Given the description of an element on the screen output the (x, y) to click on. 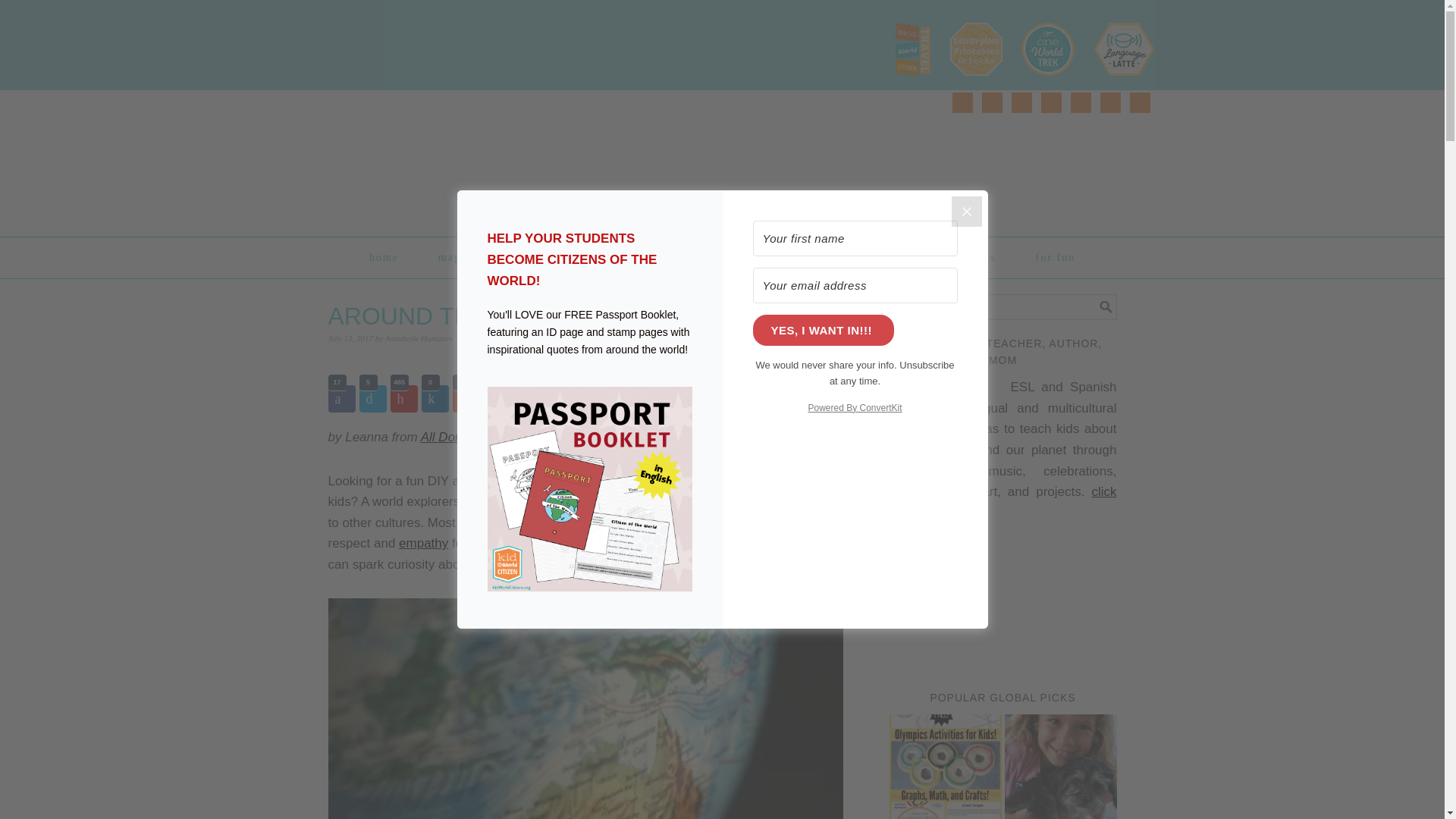
geography (569, 256)
for fun (1055, 256)
KID WORLD CITIZEN (483, 156)
map search (469, 256)
art (646, 256)
languages (858, 256)
empathy (423, 543)
food (706, 256)
home (383, 256)
books (774, 256)
Annabelle Humanes (418, 338)
celebrations (960, 256)
Olympics Activities for Kids (944, 766)
2 Comments (488, 338)
